Given the description of an element on the screen output the (x, y) to click on. 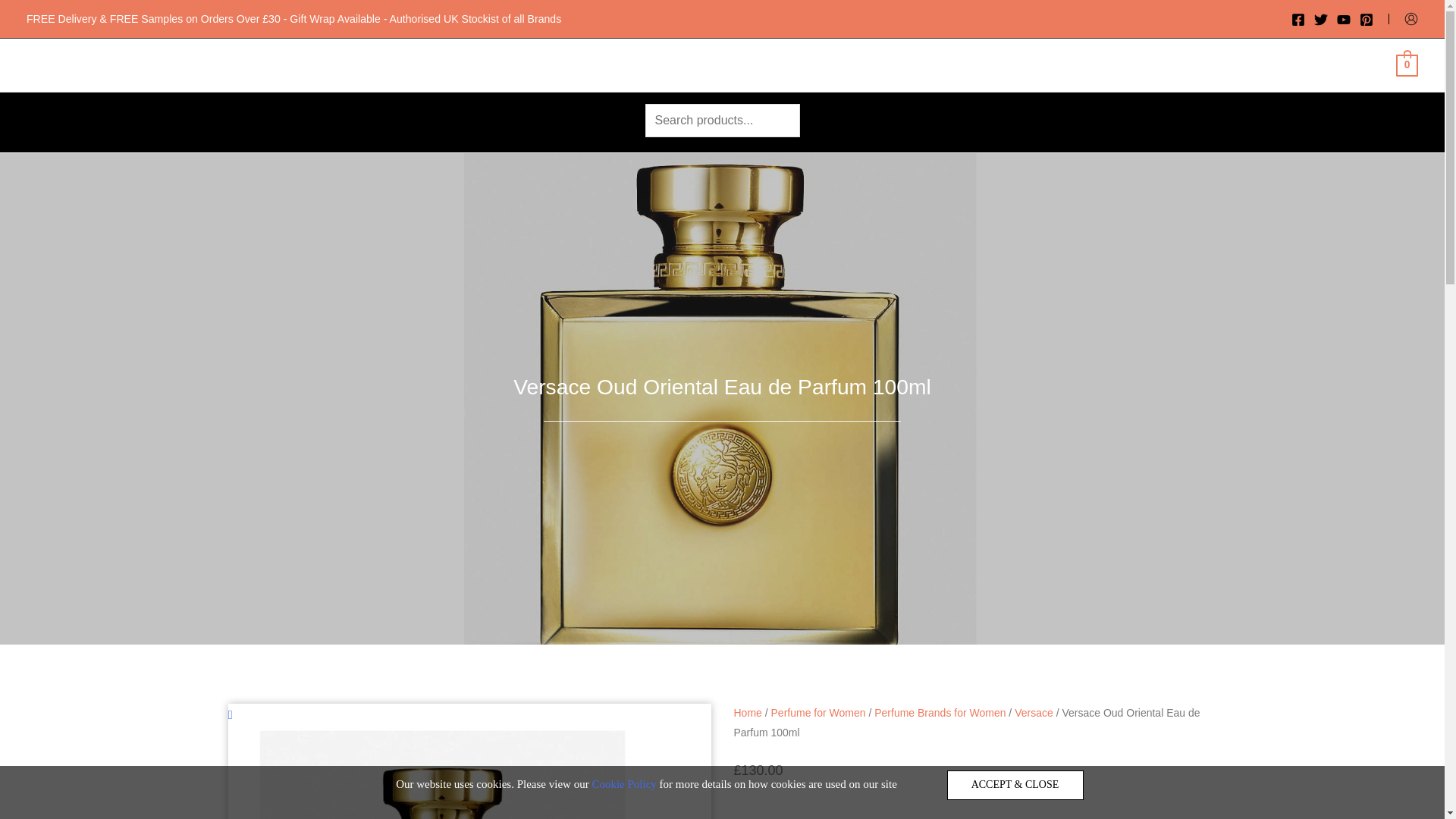
FRAGRANCE (592, 64)
BRANDS (490, 64)
Versace Oud Oriental 100 (444, 772)
